Given the description of an element on the screen output the (x, y) to click on. 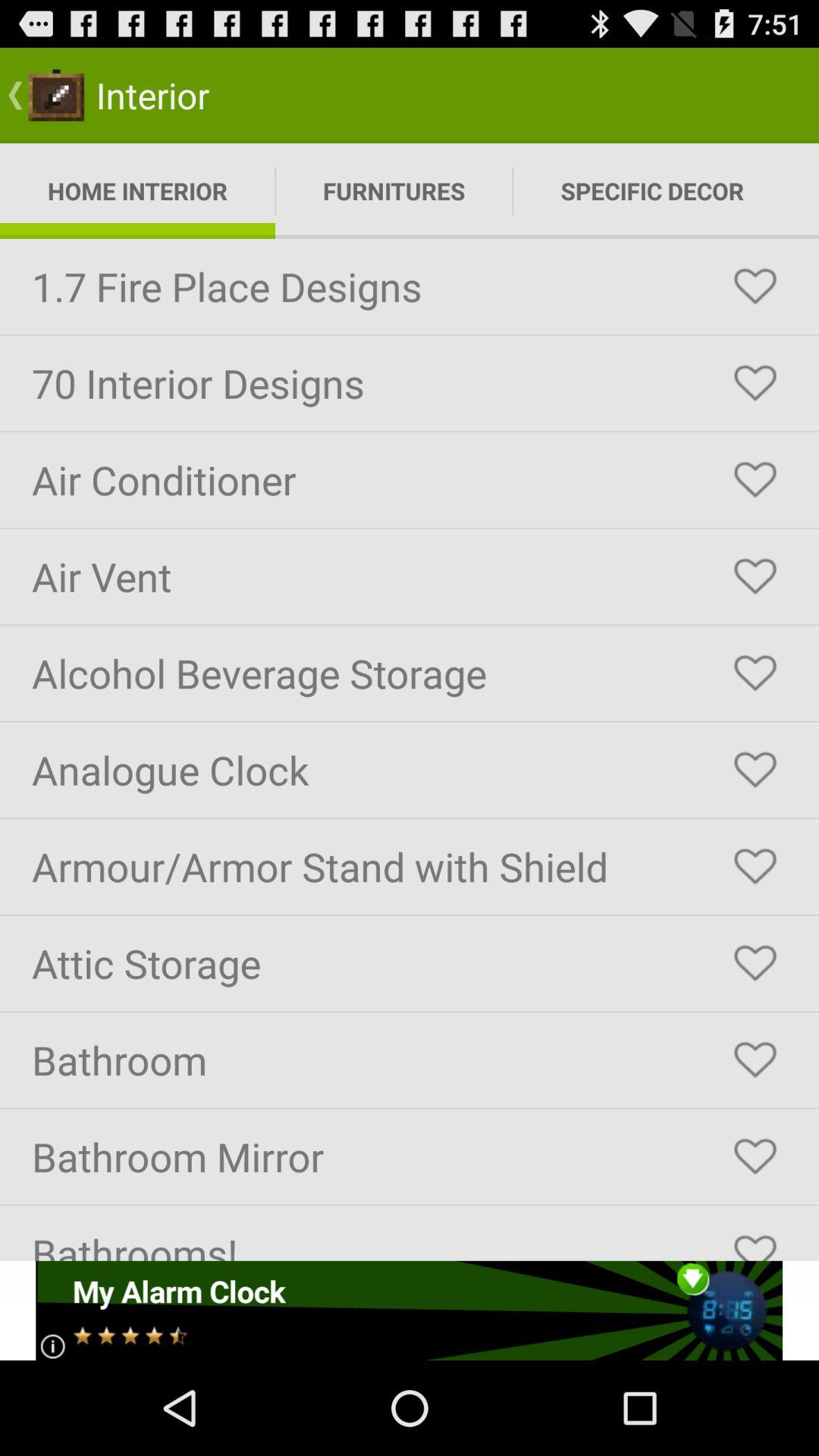
go to advertisement (408, 1310)
